Given the description of an element on the screen output the (x, y) to click on. 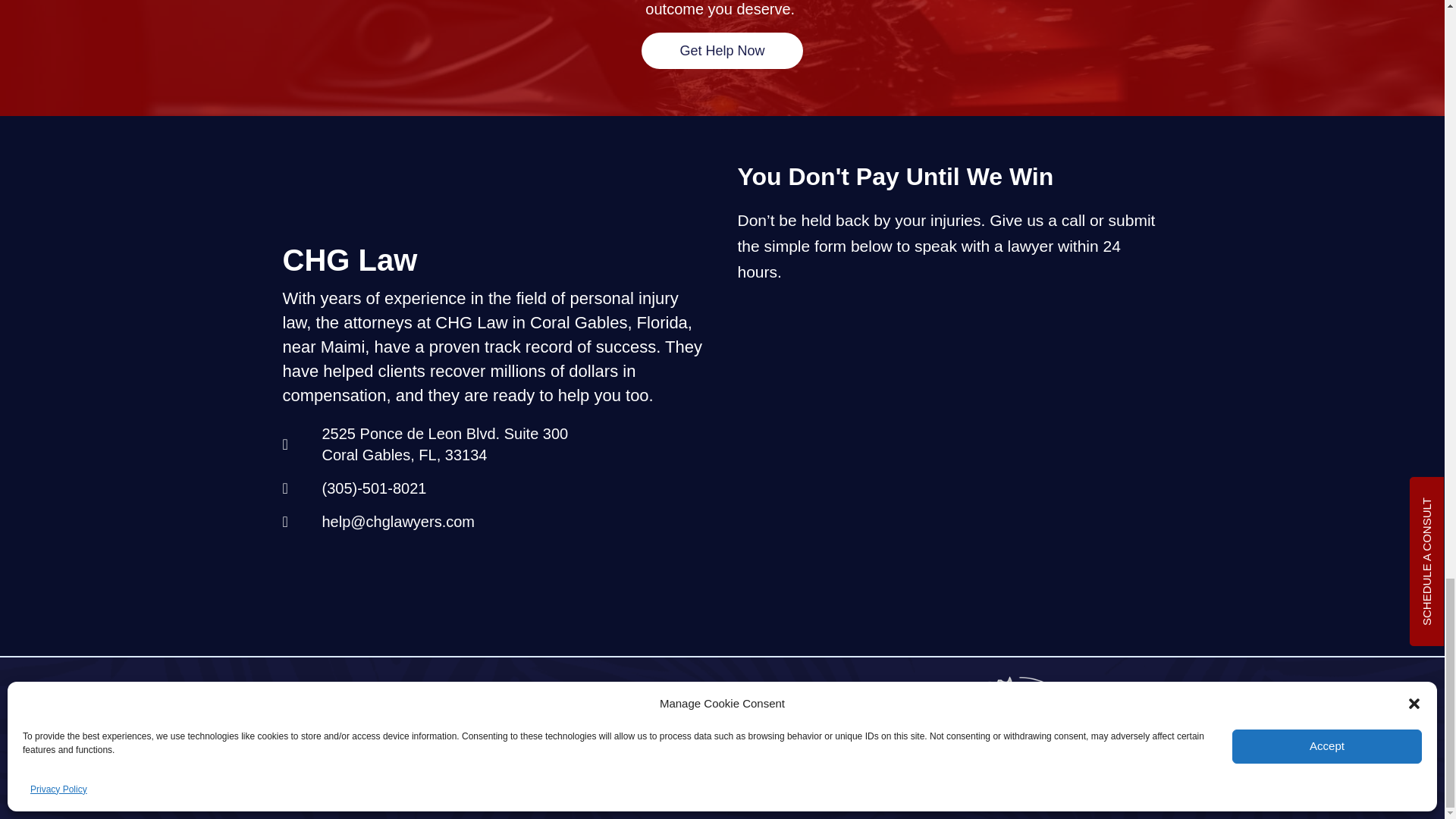
Form 0 (948, 455)
